Given the description of an element on the screen output the (x, y) to click on. 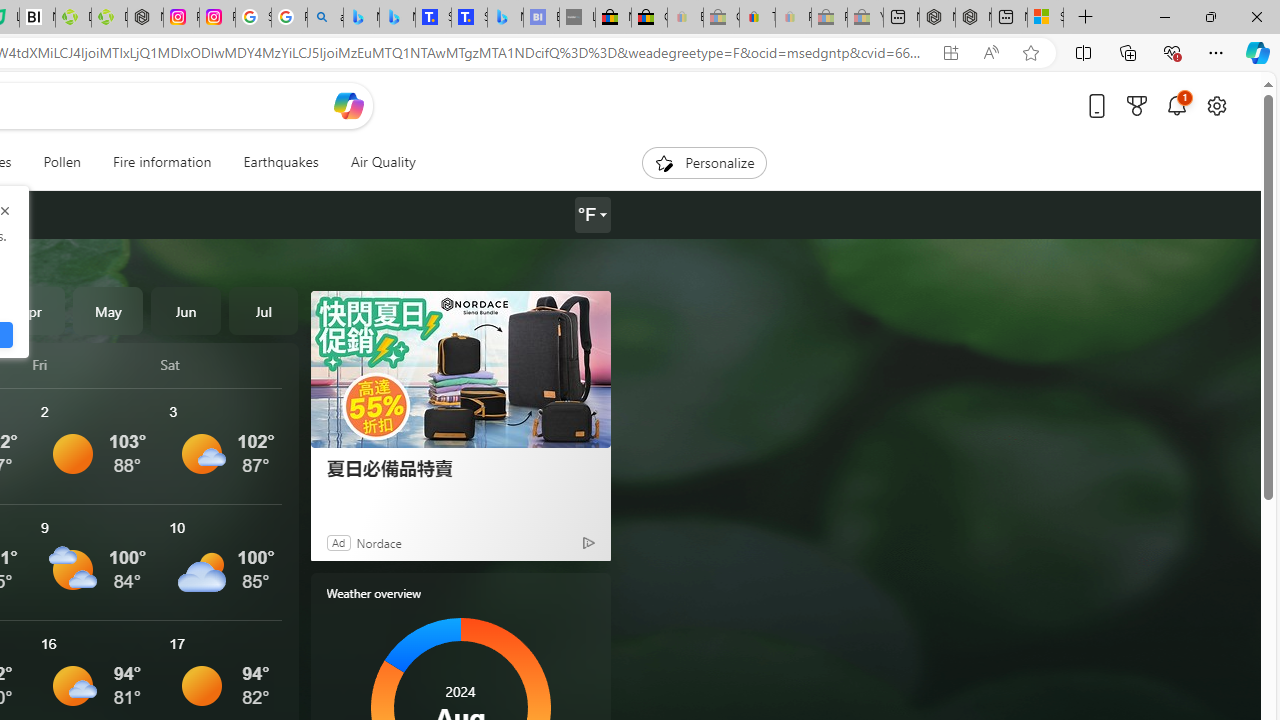
Jun (186, 310)
Press Room - eBay Inc. - Sleeping (829, 17)
Shangri-La Bangkok, Hotel reviews and Room rates (469, 17)
Safety in Our Products - Google Safety Center (253, 17)
See More Details (221, 561)
Threats and offensive language policy | eBay (756, 17)
Fire information (161, 162)
